Given the description of an element on the screen output the (x, y) to click on. 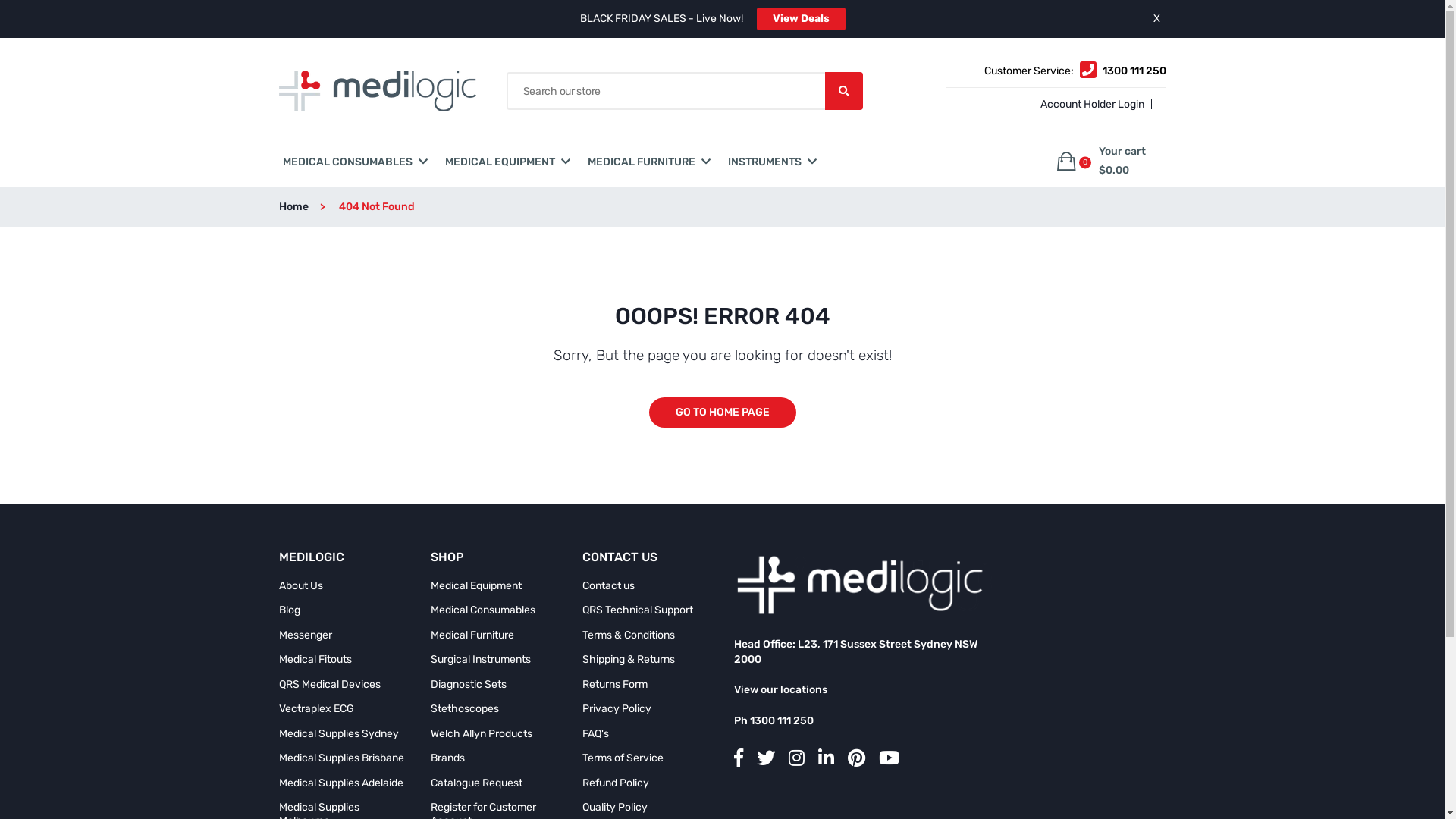
Account Holder Login Element type: text (1089, 103)
MEDICAL EQUIPMENT Element type: text (499, 162)
QRS Medical Devices Element type: text (329, 684)
GO TO HOME PAGE Element type: text (722, 412)
View our locations Element type: text (780, 689)
Refund Policy Element type: text (615, 783)
Medical Supplies Sydney Element type: text (338, 733)
MEDICAL CONSUMABLES Element type: text (346, 162)
Medical Fitouts Element type: text (315, 659)
Contact us Element type: text (608, 586)
Messenger Element type: text (305, 635)
Quality Policy Element type: text (614, 807)
Catalogue Request Element type: text (476, 783)
Stethoscopes Element type: text (464, 708)
Vectraplex ECG Element type: text (316, 708)
1300 111 250 Element type: text (1134, 70)
INSTRUMENTS Element type: text (764, 162)
Terms of Service Element type: text (622, 758)
QRS Technical Support Element type: text (637, 610)
Terms & Conditions Element type: text (628, 635)
Diagnostic Sets Element type: text (468, 684)
Medical Furniture Element type: text (472, 635)
About Us Element type: text (301, 586)
Surgical Instruments Element type: text (480, 659)
FAQ's Element type: text (595, 733)
Medical Consumables Element type: text (482, 610)
Privacy Policy Element type: text (616, 708)
Home Element type: text (307, 206)
Brands Element type: text (447, 758)
Welch Allyn Products Element type: text (481, 733)
Medical Supplies Adelaide Element type: text (341, 783)
Blog Element type: text (289, 610)
X Element type: text (1155, 18)
MEDICAL FURNITURE Element type: text (640, 162)
Medical Supplies Brisbane Element type: text (341, 758)
Returns Form Element type: text (614, 684)
Shipping & Returns Element type: text (628, 659)
View Deals Element type: text (800, 18)
Medical Equipment Element type: text (475, 586)
